Given the description of an element on the screen output the (x, y) to click on. 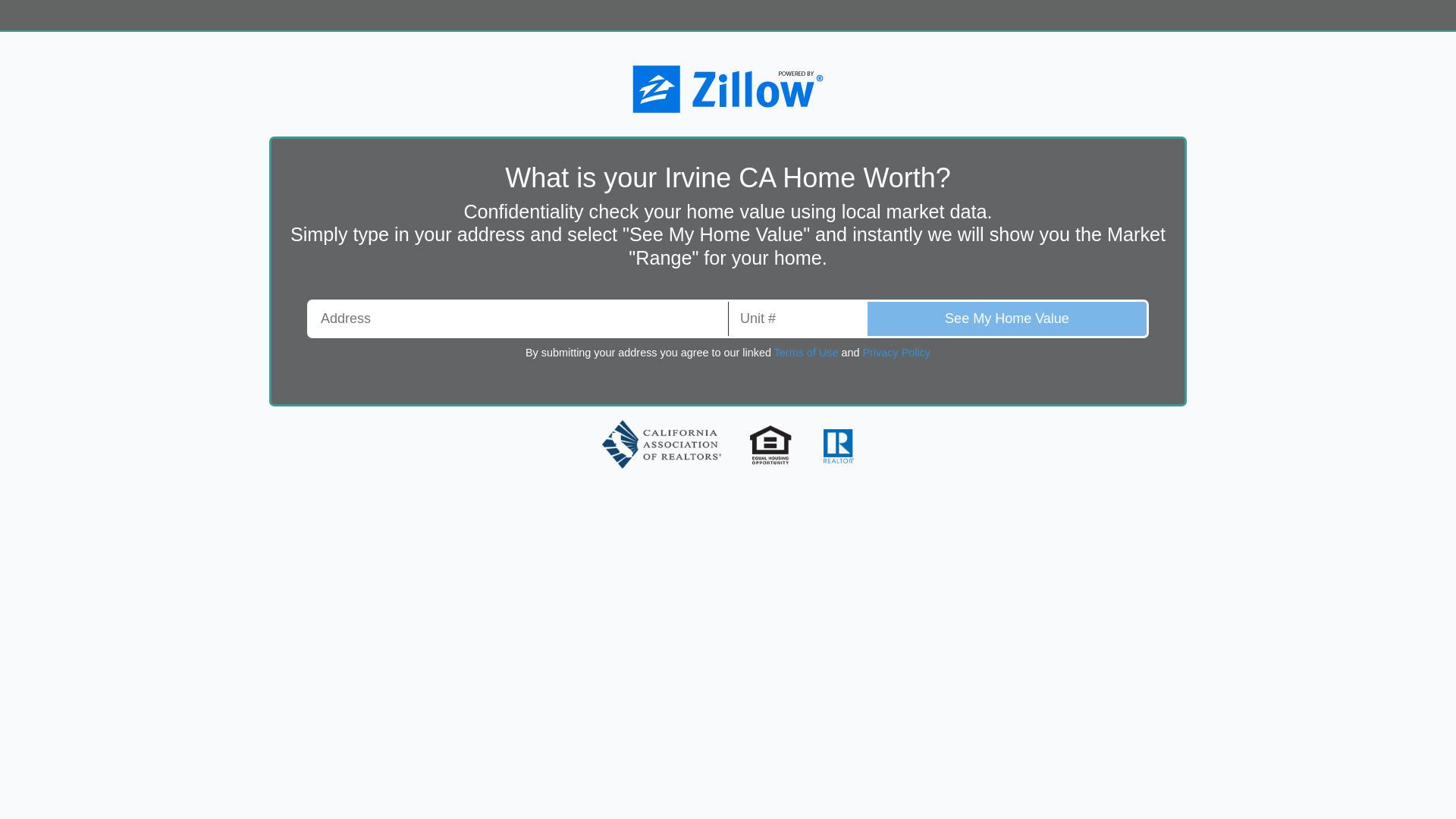
Privacy Policy (895, 352)
See My Home Value (1007, 318)
Terms of Use (806, 352)
